Given the description of an element on the screen output the (x, y) to click on. 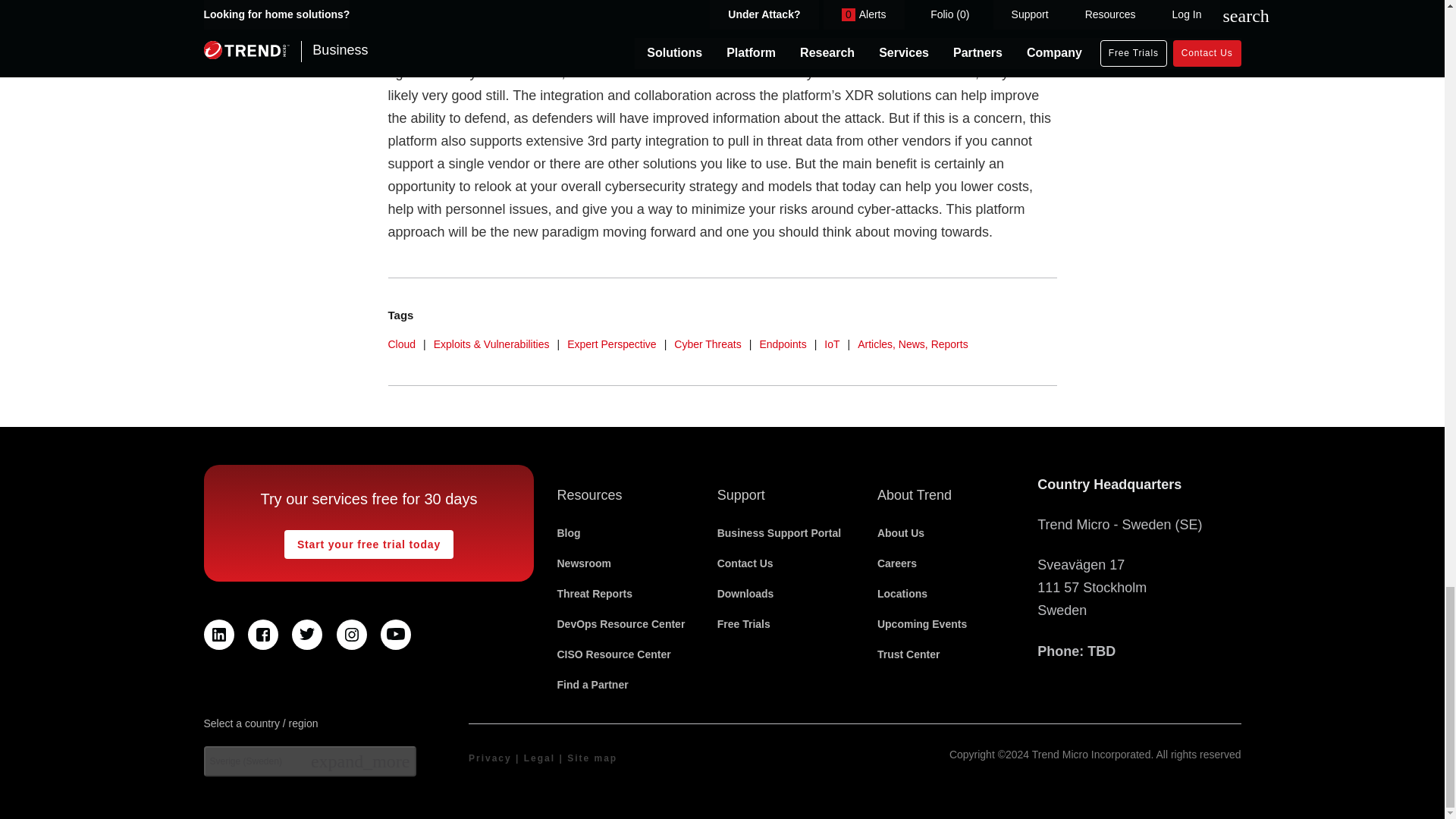
privacy (490, 757)
Site map (592, 757)
Legal (539, 757)
